Given the description of an element on the screen output the (x, y) to click on. 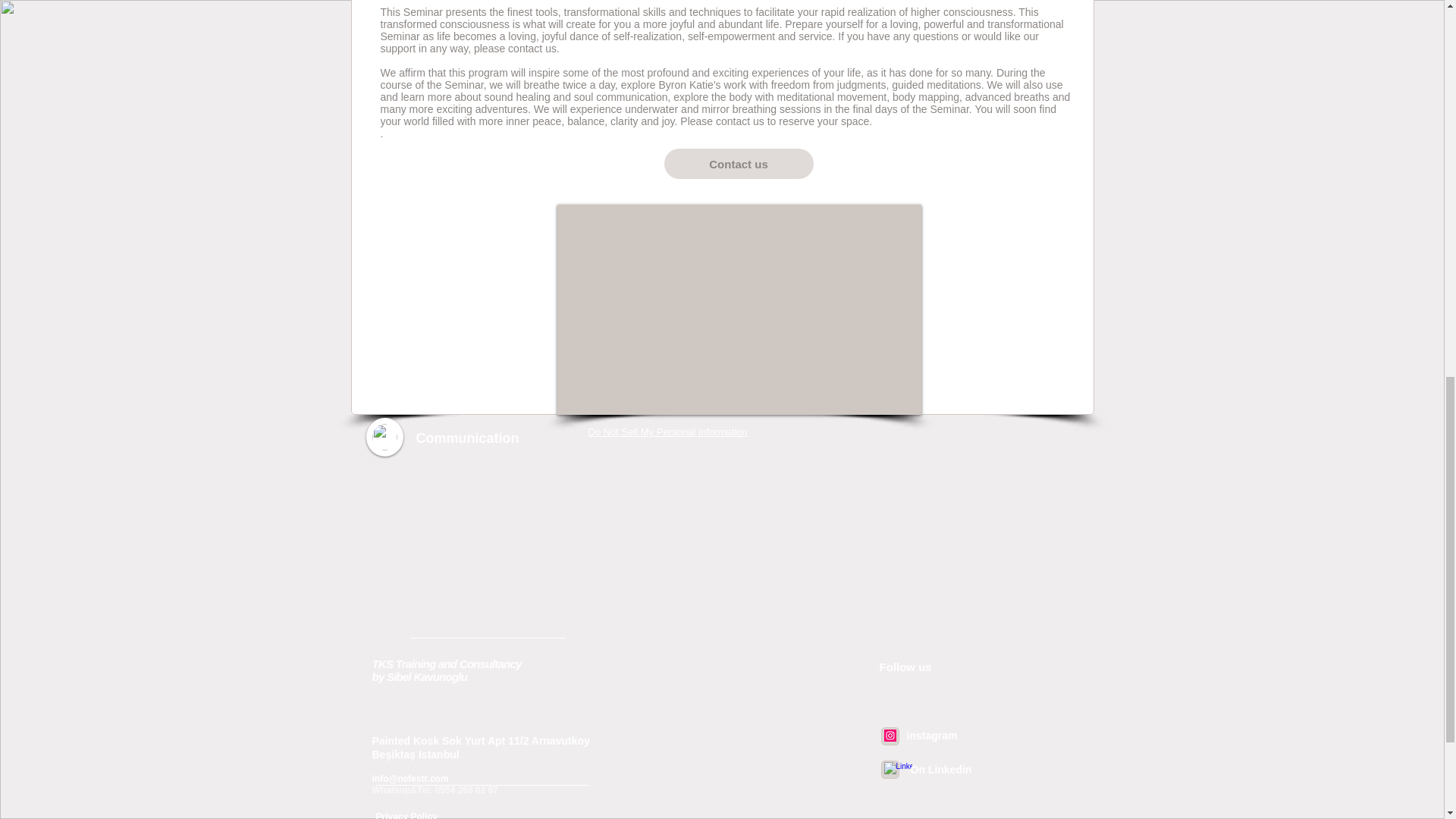
Contact us (738, 163)
External YouTube (738, 309)
Do Not Sell My Personal Information (668, 431)
